Given the description of an element on the screen output the (x, y) to click on. 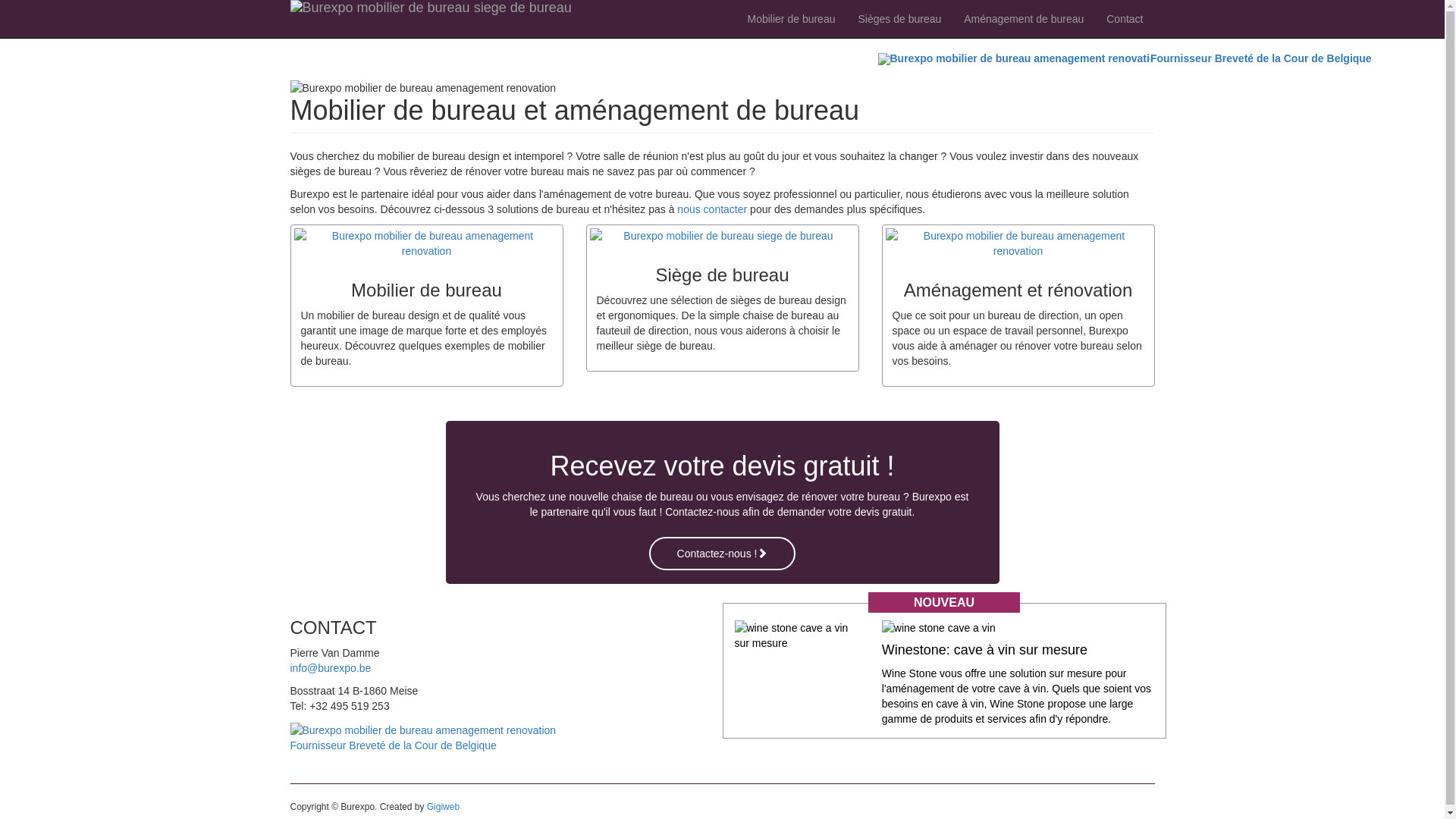
nous contacter Element type: text (711, 209)
Contact Element type: text (1124, 18)
Mobilier de bureau Element type: text (791, 18)
Cave a vin sur mesure Wine Stone Element type: hover (796, 635)
Gigiweb Element type: text (442, 806)
NOUVEAU Element type: text (944, 602)
info@burexpo.be Element type: text (329, 668)
Contactez-nous ! Element type: text (722, 553)
